Given the description of an element on the screen output the (x, y) to click on. 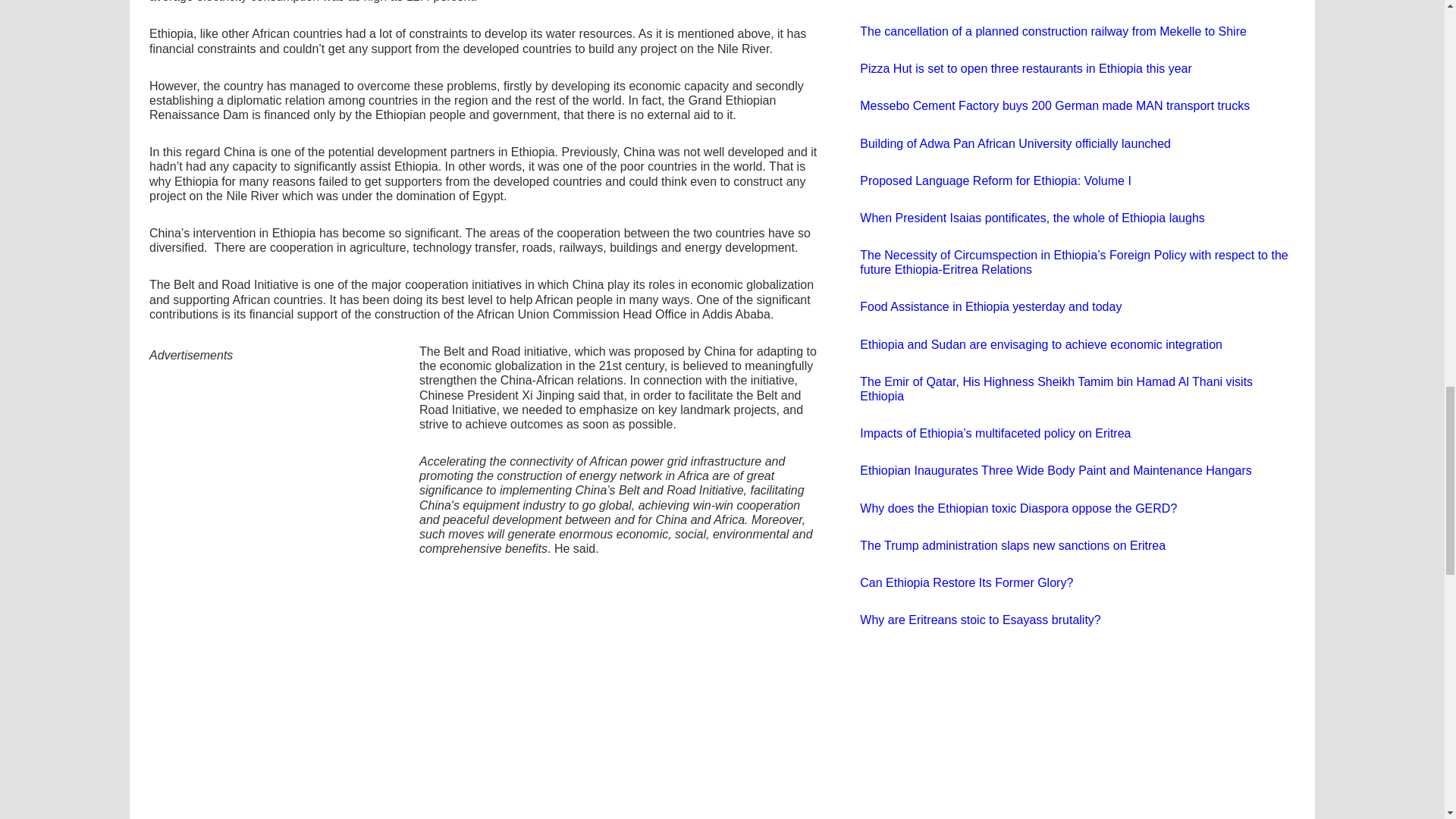
Advertisement (268, 692)
Why are Eritreans stoic to Esayass brutality? (980, 619)
Can Ethiopia Restore Its Former Glory? (966, 582)
Proposed Language Reform for Ethiopia: Volume I (995, 180)
Building of Adwa Pan African University officially launched (1015, 143)
